Given the description of an element on the screen output the (x, y) to click on. 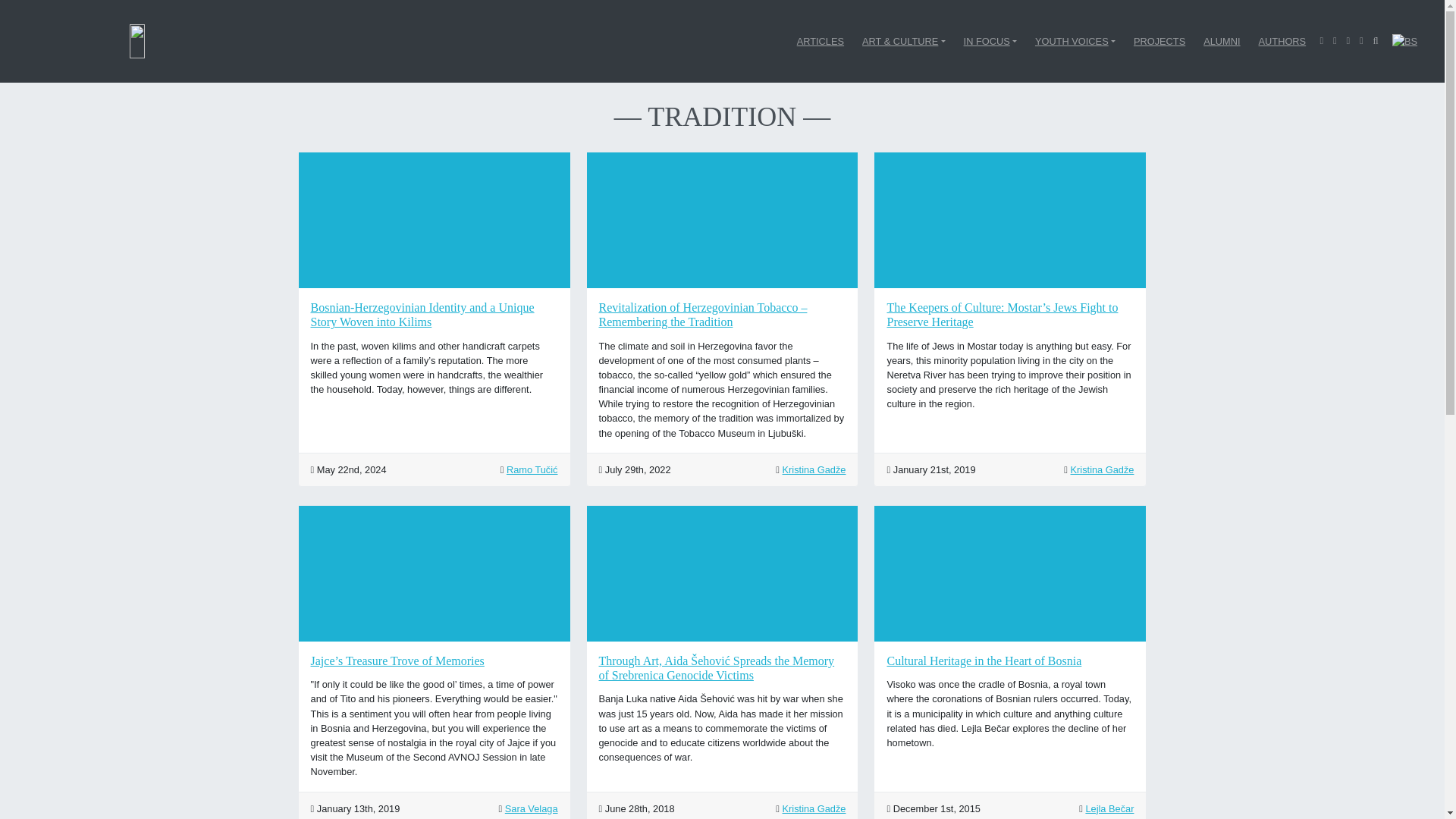
ALUMNI (1221, 40)
PROJECTS (1158, 40)
ARTICLES (820, 40)
Sara Velaga (531, 808)
YOUTH VOICES (1075, 40)
AUTHORS (1282, 40)
IN FOCUS (990, 40)
